Given the description of an element on the screen output the (x, y) to click on. 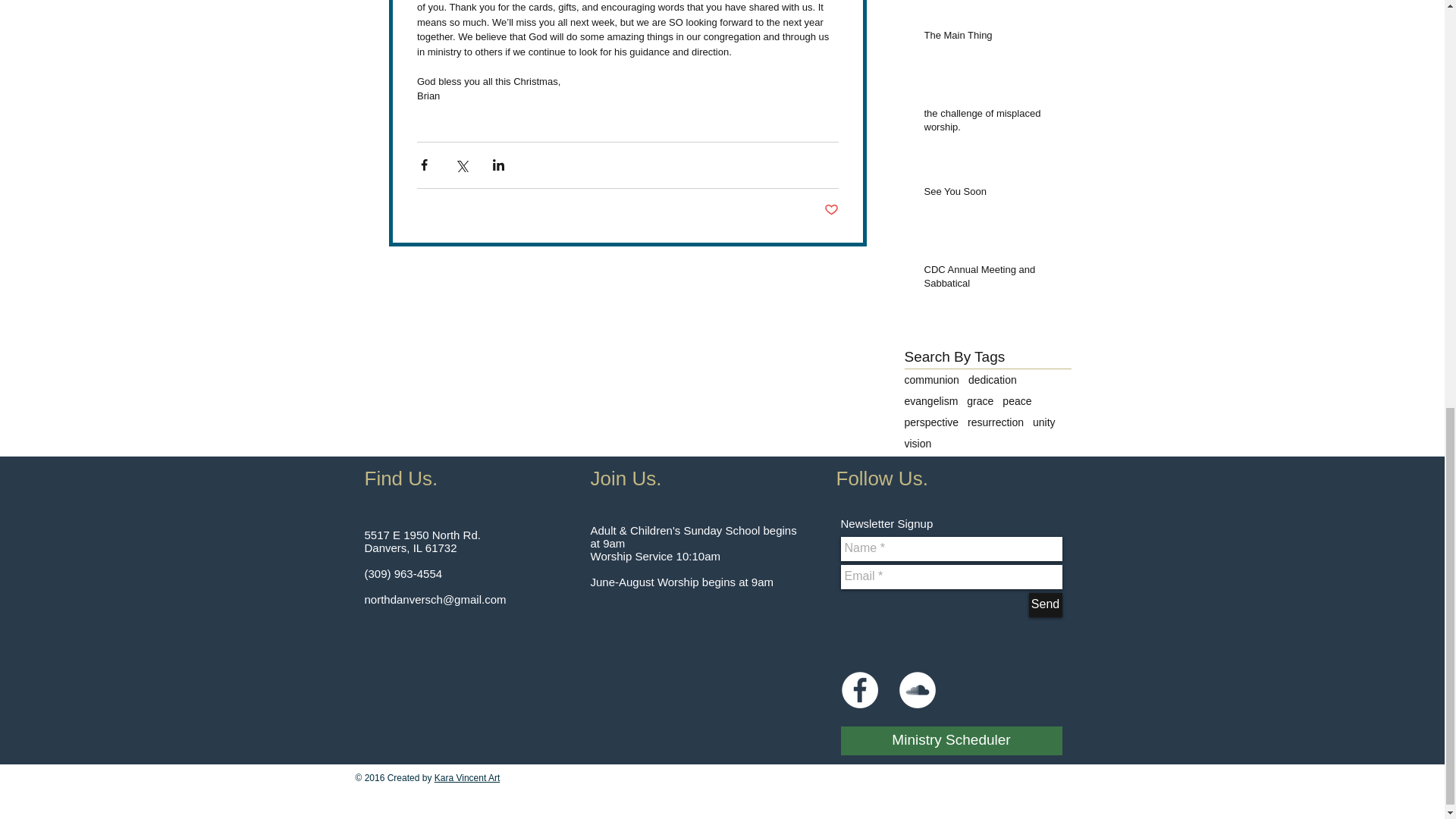
communion (931, 379)
Kara Vincent Art (466, 777)
dedication (992, 379)
evangelism (931, 400)
vision (917, 443)
unity (1043, 422)
Ministry Scheduler (950, 740)
CDC Annual Meeting and Sabbatical (992, 279)
See You Soon (992, 194)
The Main Thing (992, 38)
